Given the description of an element on the screen output the (x, y) to click on. 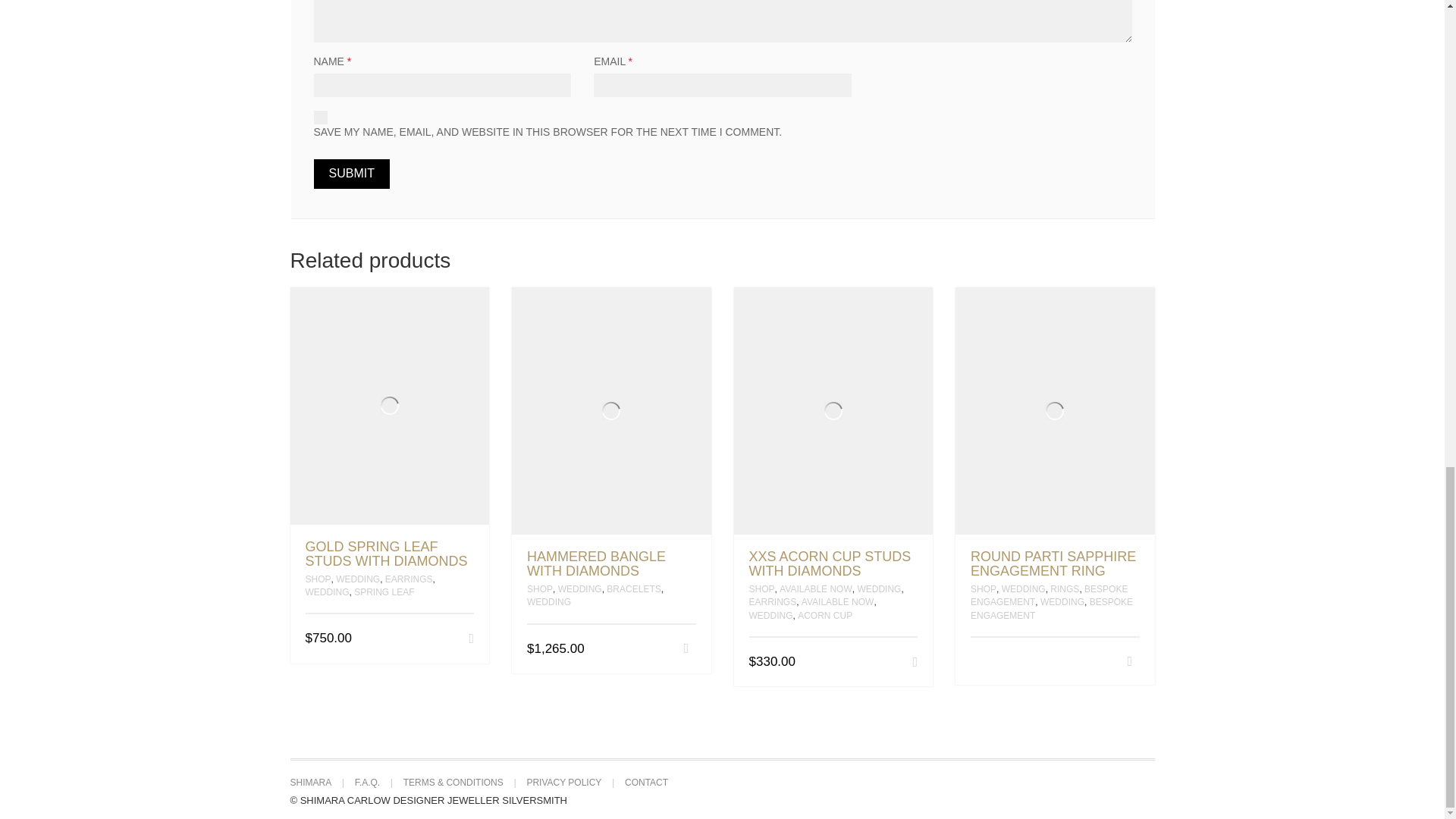
Read more (1128, 661)
yes (320, 117)
Submit (352, 173)
Select options (686, 648)
